Given the description of an element on the screen output the (x, y) to click on. 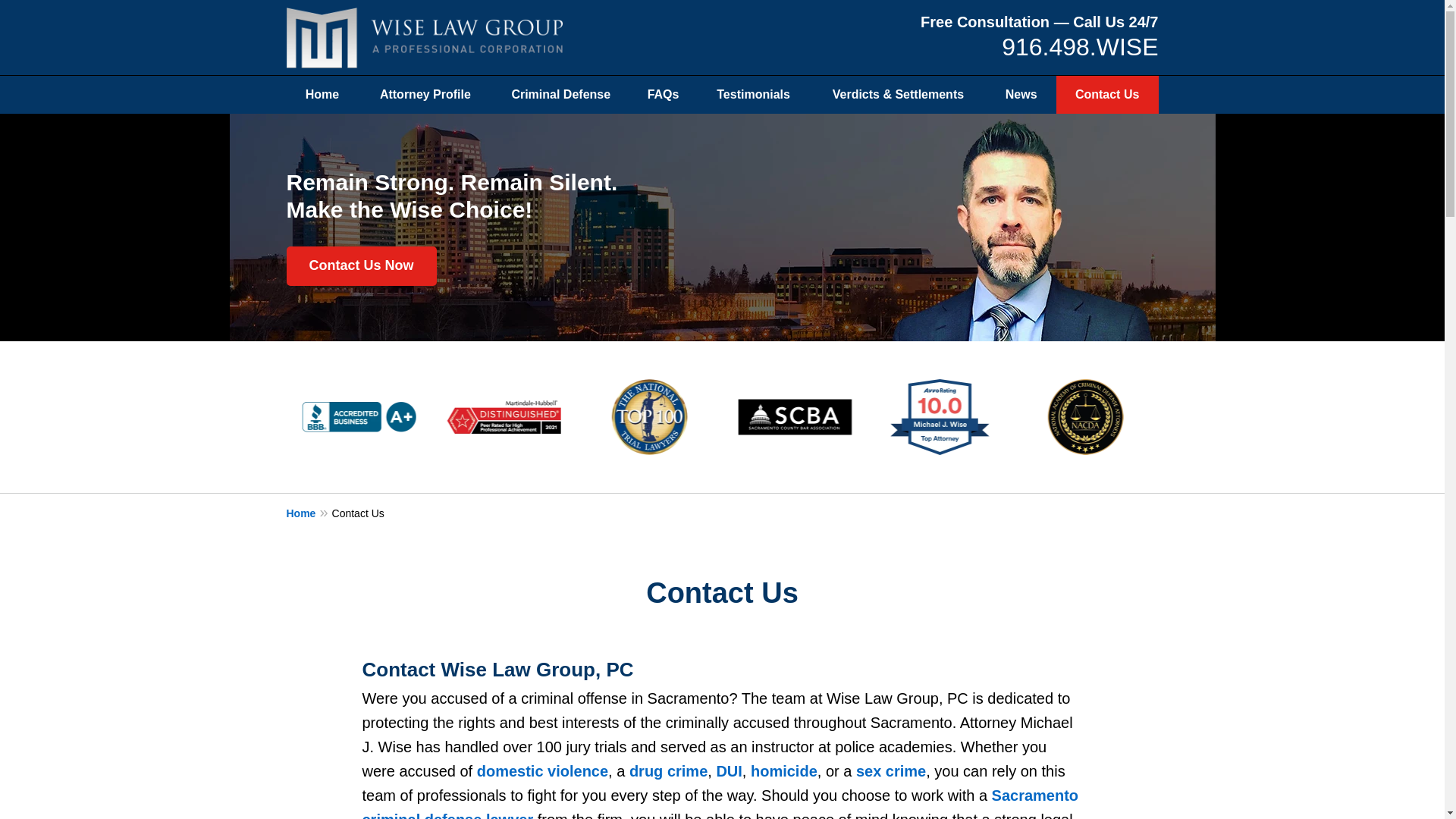
sex crime (891, 770)
DUI (728, 770)
domestic violence (542, 770)
Contact Us Now (361, 265)
Testimonials (753, 94)
drug crime (667, 770)
Attorney Profile (425, 94)
Criminal Defense (560, 94)
FAQs (662, 94)
916.498.WISE (1079, 46)
Home (308, 513)
News (1022, 94)
homicide (783, 770)
Contact Us (1107, 94)
Sacramento criminal defense lawyer (720, 803)
